Given the description of an element on the screen output the (x, y) to click on. 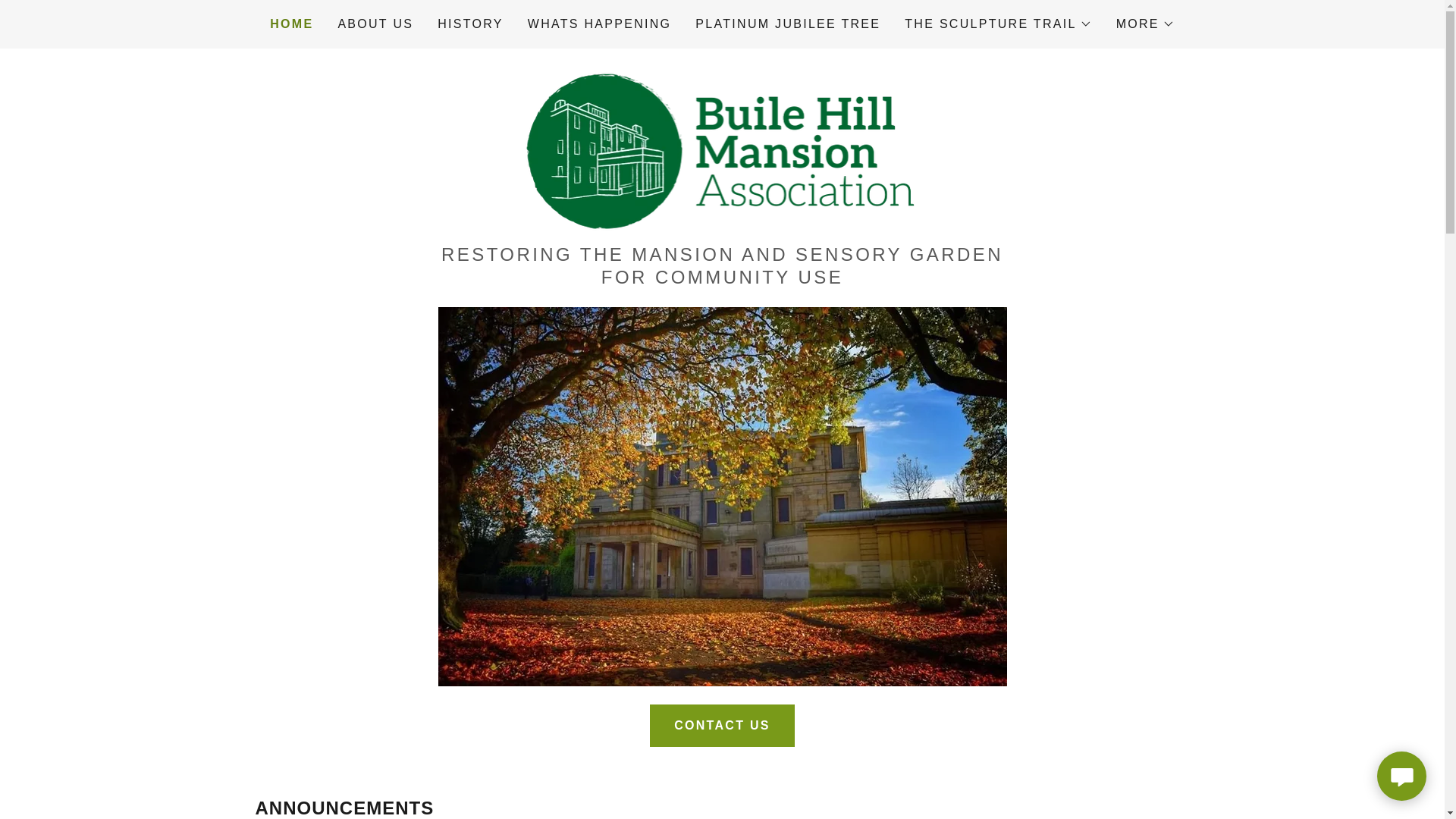
HISTORY (470, 23)
PLATINUM JUBILEE TREE (787, 23)
Buile Hill Mansion Assossiation (721, 150)
HOME (291, 24)
WHATS HAPPENING (599, 23)
THE SCULPTURE TRAIL (997, 24)
MORE (1145, 24)
ABOUT US (375, 23)
